Given the description of an element on the screen output the (x, y) to click on. 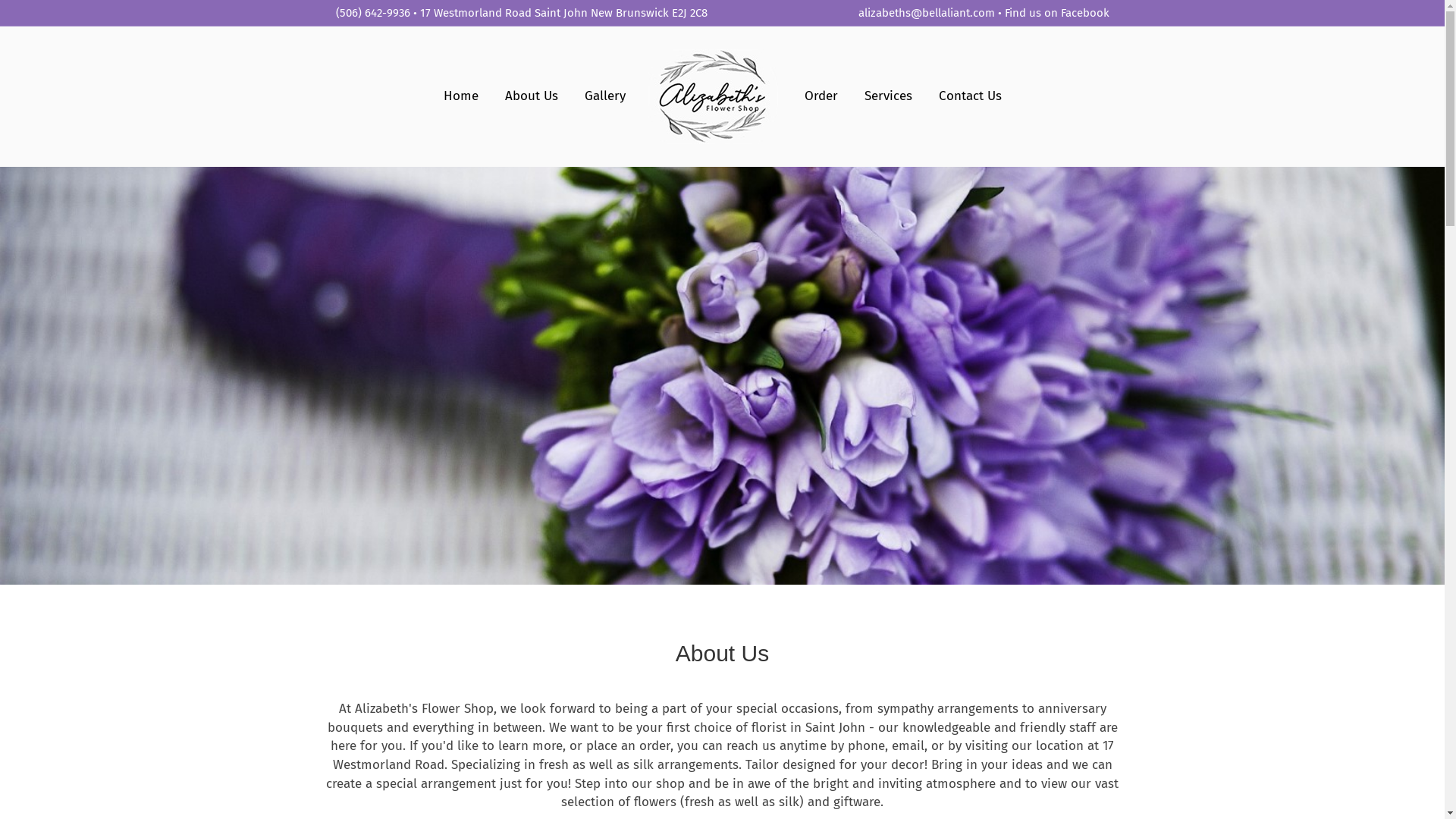
Find us on Facebook Element type: text (1056, 12)
Contact Us Element type: text (969, 95)
Home Element type: text (460, 95)
About Us Element type: text (530, 95)
Order Element type: text (821, 95)
(506) 642-9936 Element type: text (372, 12)
alizabeths@bellaliant.com Element type: text (926, 12)
Services Element type: text (887, 95)
Gallery Element type: text (605, 95)
